Given the description of an element on the screen output the (x, y) to click on. 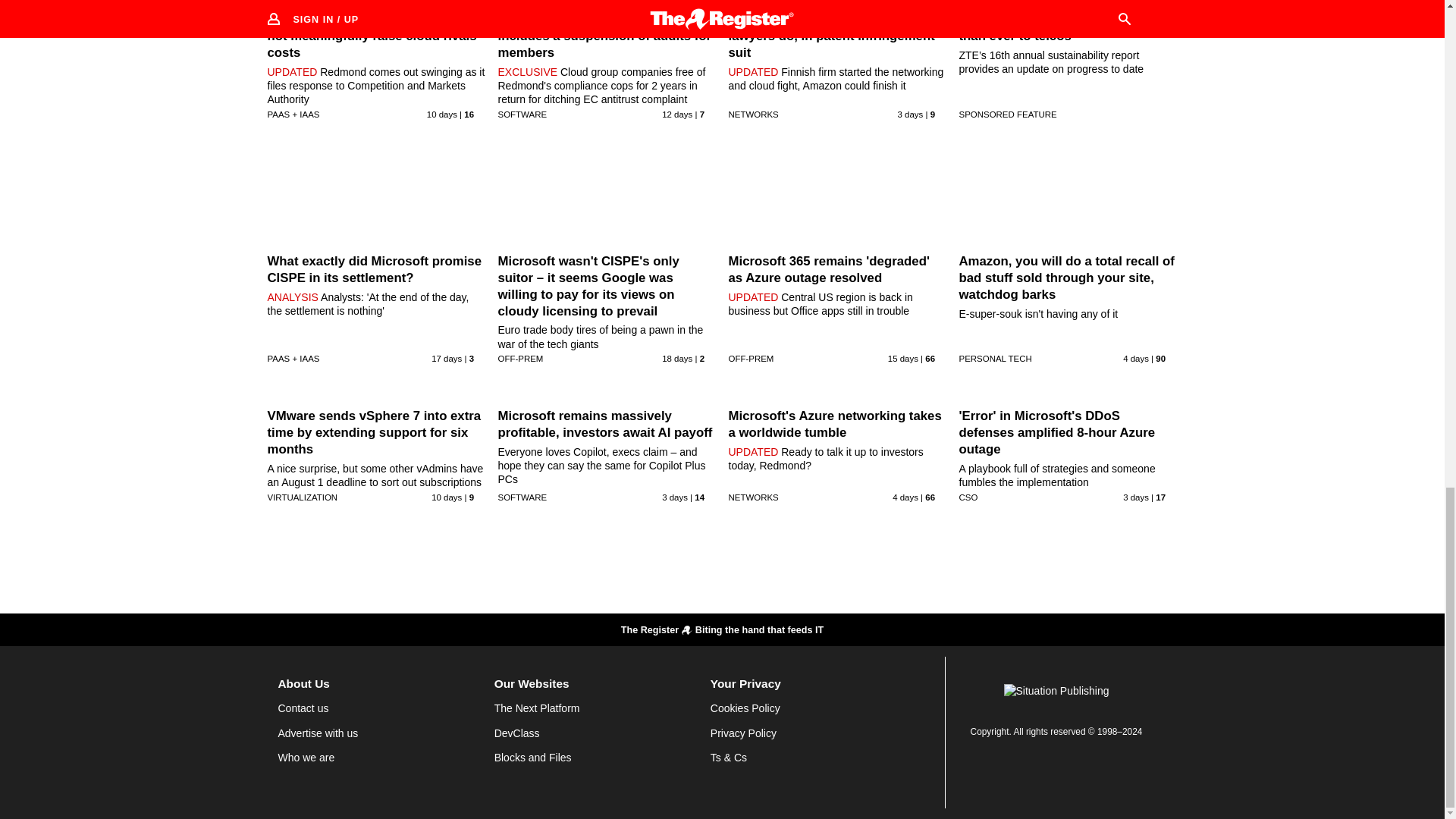
24 Jul 2024 3:48 (445, 497)
31 Jul 2024 18:45 (910, 113)
19 Jul 2024 2:2 (903, 358)
31 Jul 2024 5:38 (674, 497)
16 Jul 2024 4:1 (677, 358)
22 Jul 2024 9:34 (677, 113)
24 Jul 2024 11:34 (441, 113)
30 Jul 2024 23:38 (1135, 358)
17 Jul 2024 13:42 (445, 358)
